Given the description of an element on the screen output the (x, y) to click on. 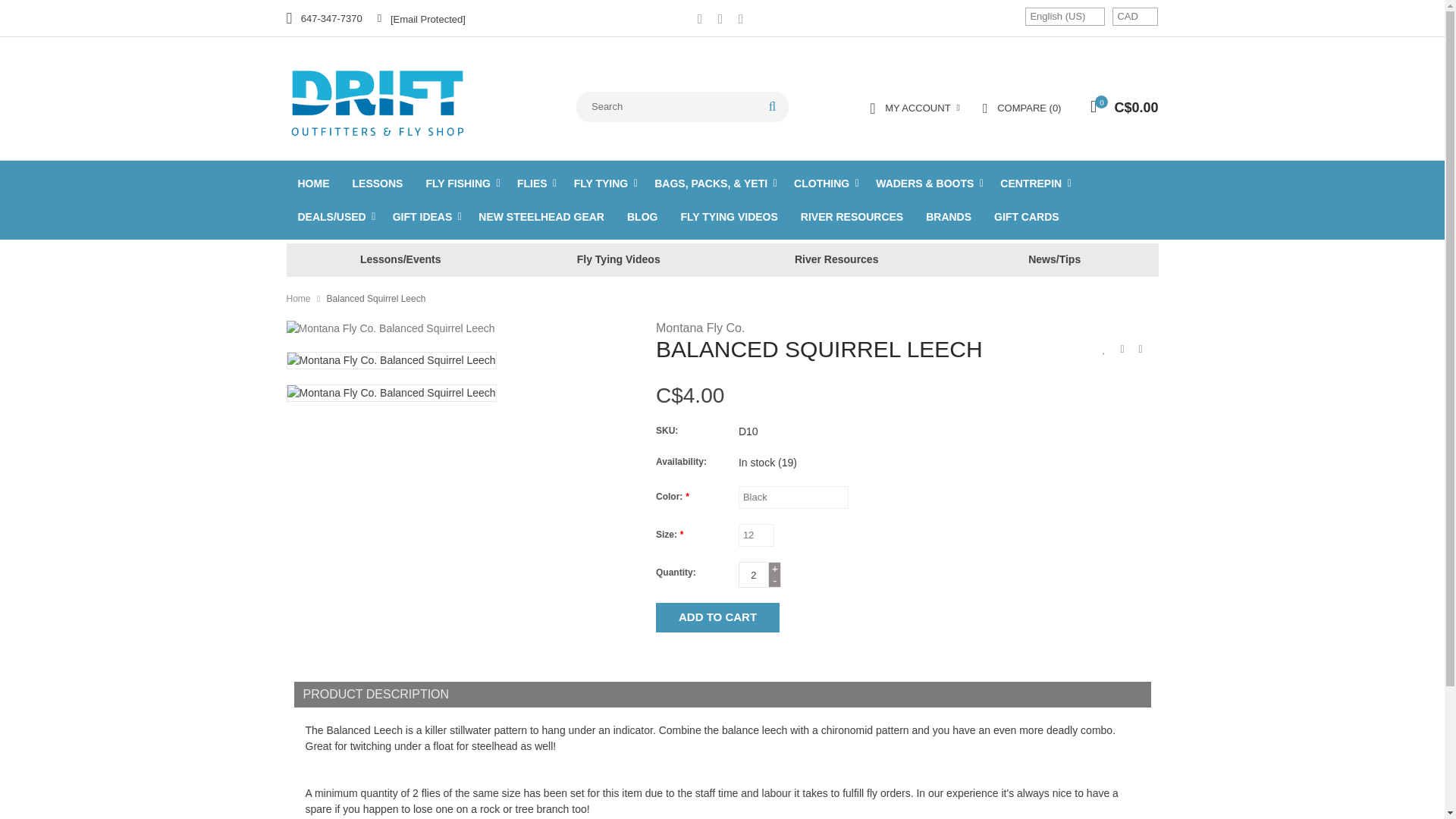
Search (772, 106)
Fly Fishing (459, 183)
Cart (1120, 108)
647-347-7370 (324, 17)
YouTube Toronto's Fly Fishing Store (720, 20)
MY ACCOUNT (914, 107)
Email (421, 17)
HOME (313, 183)
Fly Fishing (389, 101)
Facebook Toronto's Fly Fishing Store (699, 20)
